Given the description of an element on the screen output the (x, y) to click on. 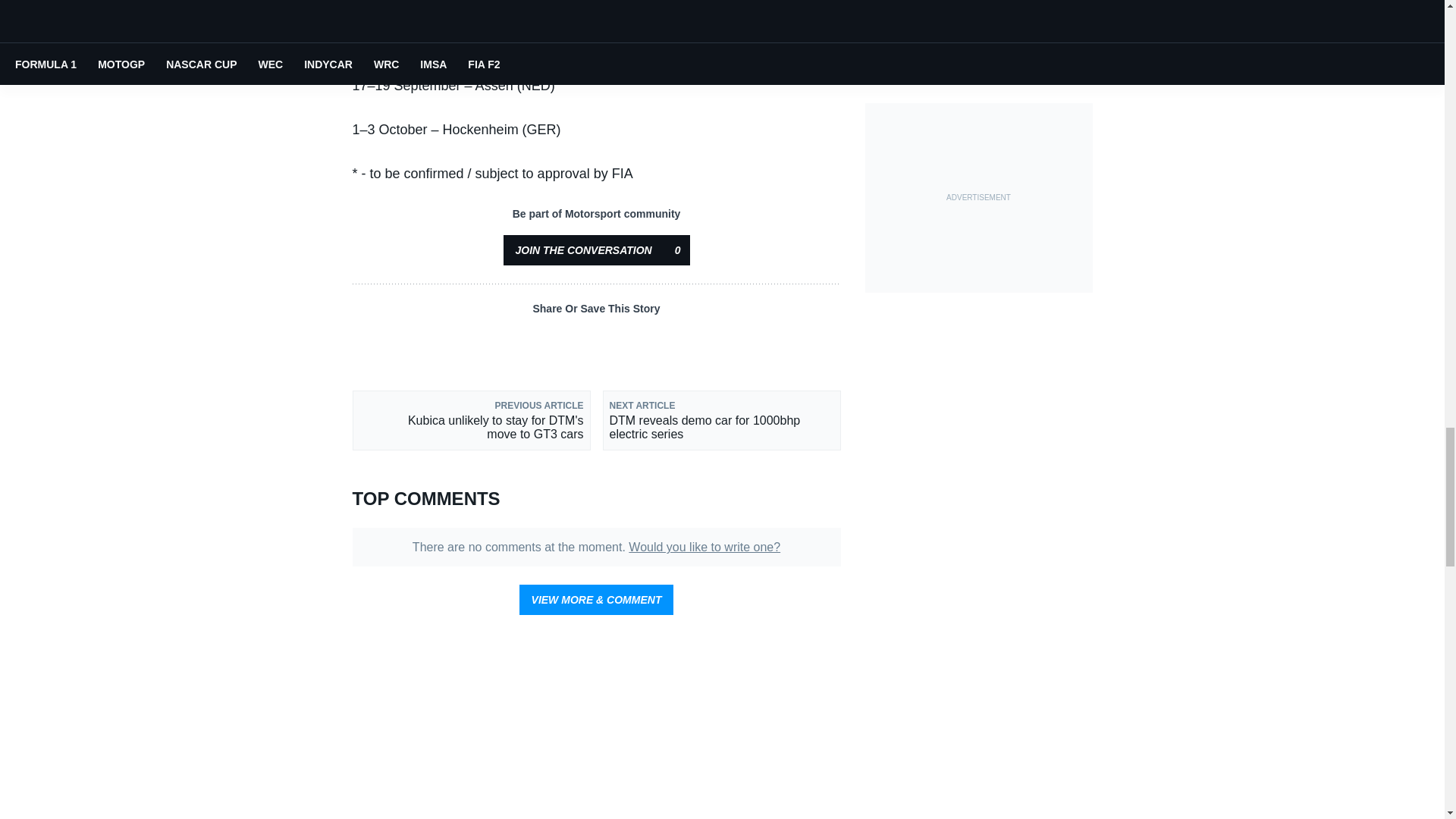
DTM reveals demo car for 1000bhp electric series (721, 420)
Kubica unlikely to stay for DTM's move to GT3 cars (470, 420)
